Given the description of an element on the screen output the (x, y) to click on. 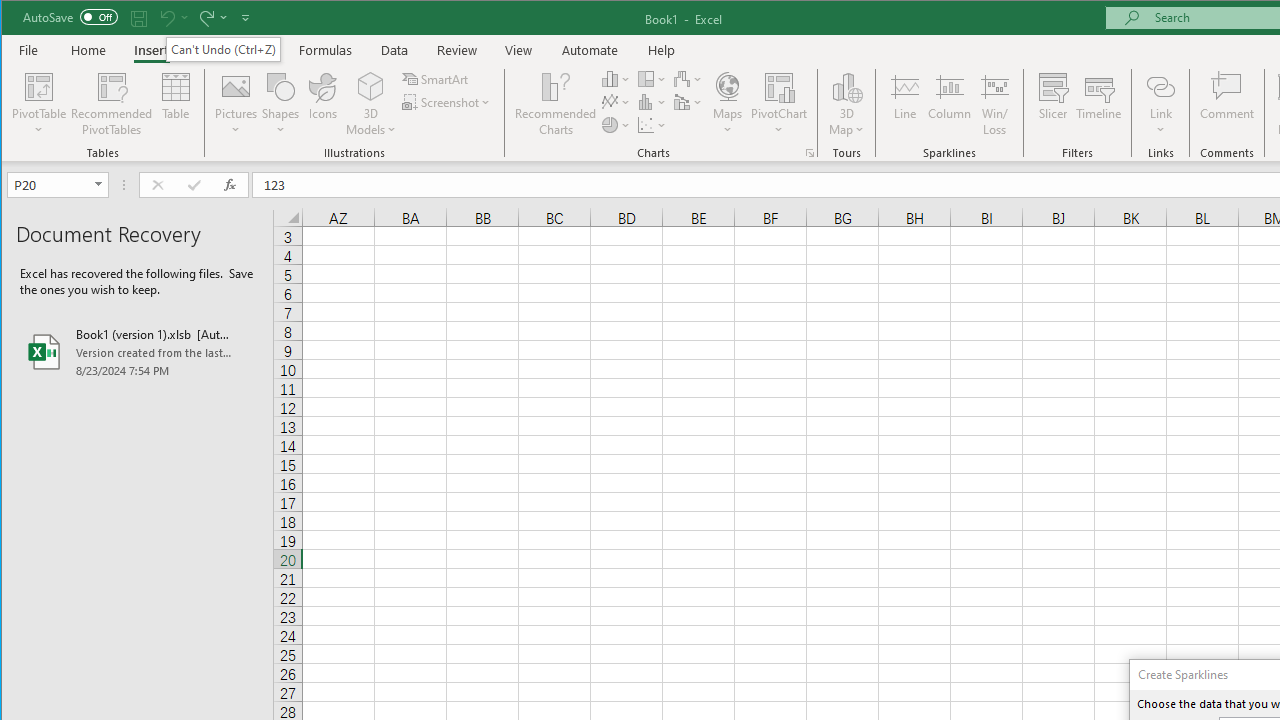
Insert Pie or Doughnut Chart (616, 124)
Pictures (235, 104)
Insert Scatter (X, Y) or Bubble Chart (652, 124)
Can't Undo (Ctrl+Z) (223, 48)
Recommended Charts (809, 152)
Screenshot (447, 101)
3D Map (846, 104)
PivotTable (39, 104)
